Given the description of an element on the screen output the (x, y) to click on. 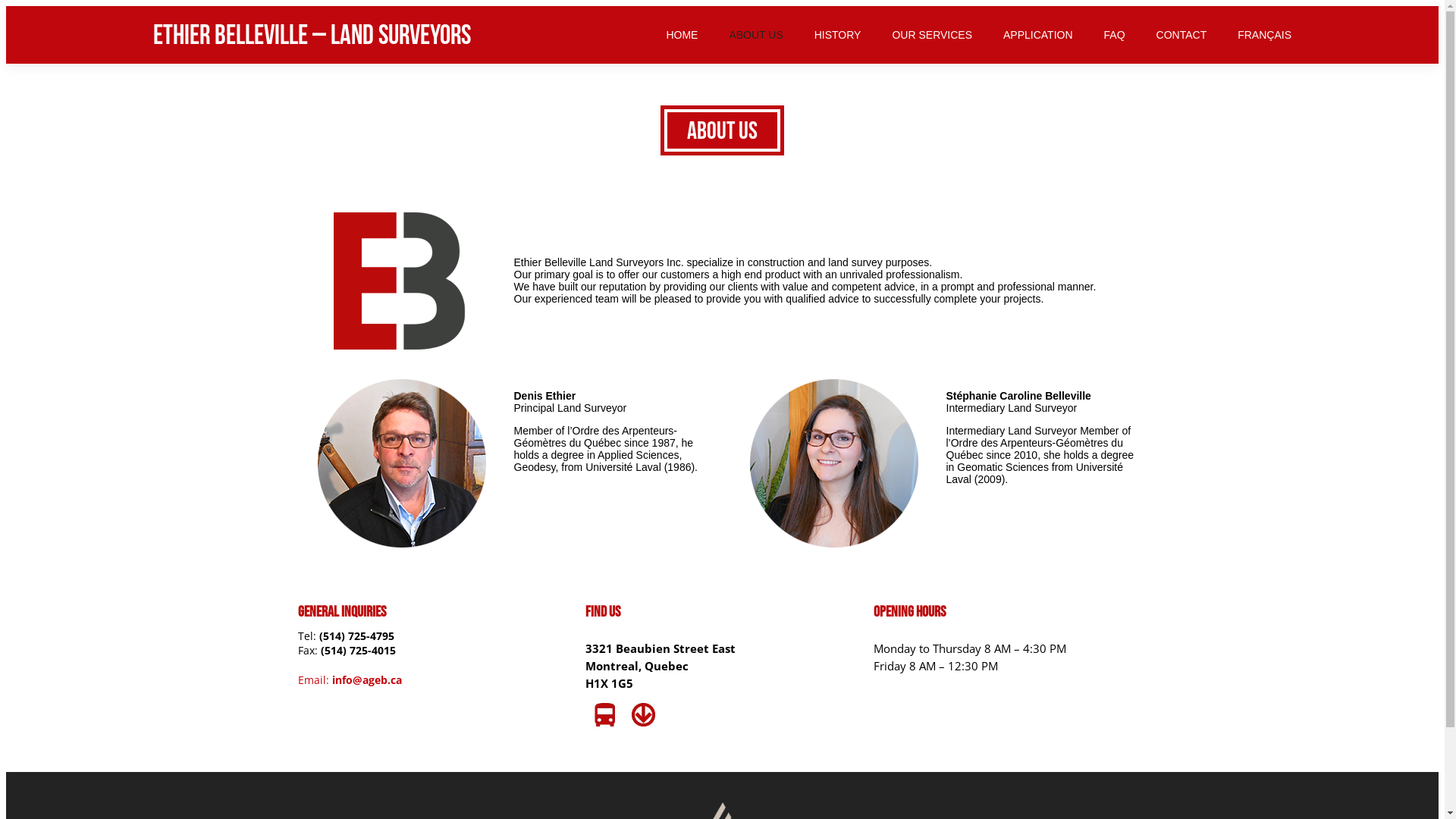
Tel: (514) 725-4795 Element type: text (433, 635)
OUR SERVICES Element type: text (931, 34)
CONTACT Element type: text (1181, 34)
FAQ Element type: text (1114, 34)
HISTORY Element type: text (837, 34)
HOME Element type: text (681, 34)
Email: info@ageb.ca Element type: text (433, 679)
Fax: (514) 725-4015 Element type: text (433, 650)
ABOUT US Element type: text (755, 34)
About us Element type: text (722, 130)
APPLICATION Element type: text (1038, 34)
